Given the description of an element on the screen output the (x, y) to click on. 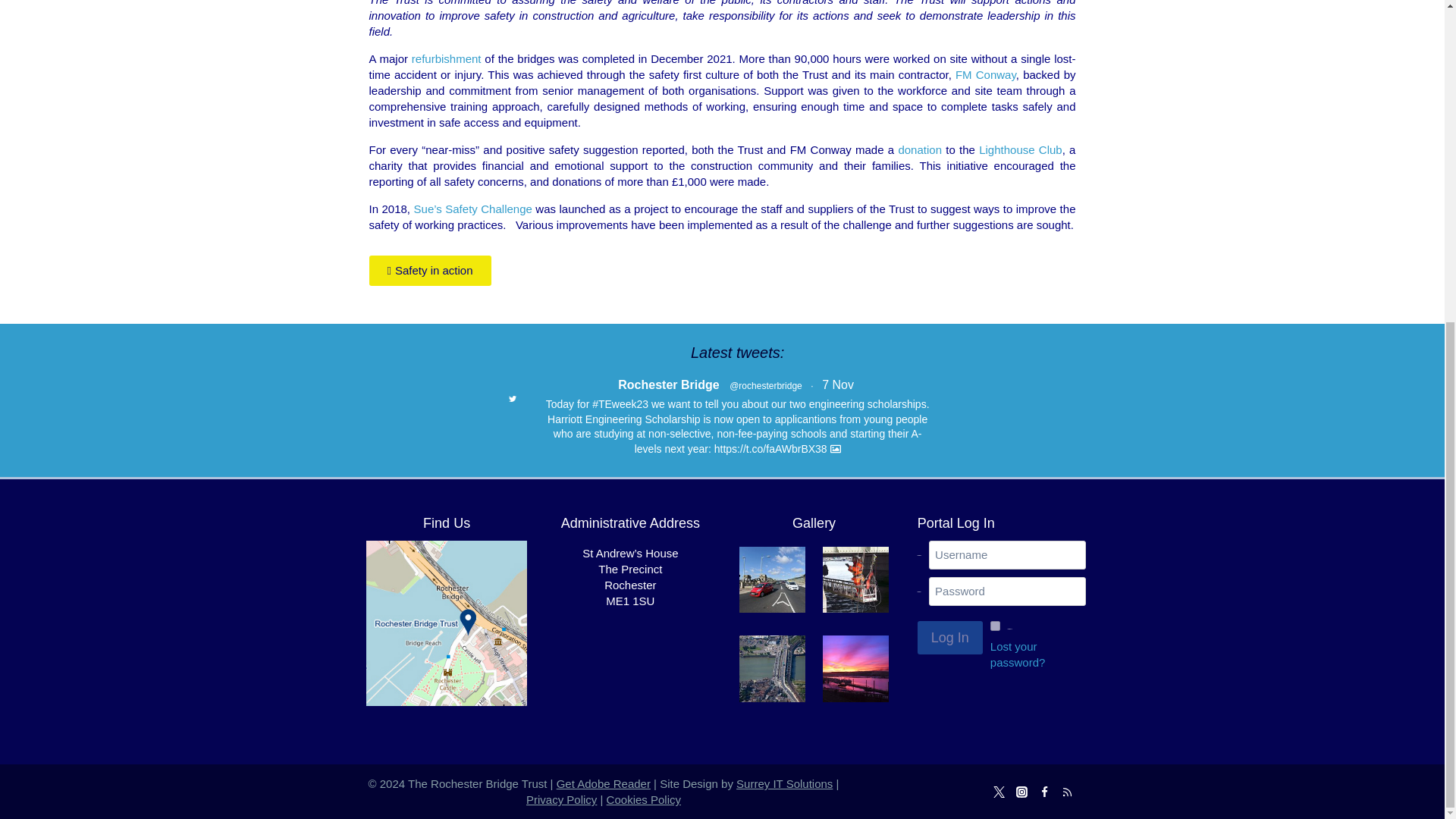
Log In (949, 636)
forever (995, 625)
